Given the description of an element on the screen output the (x, y) to click on. 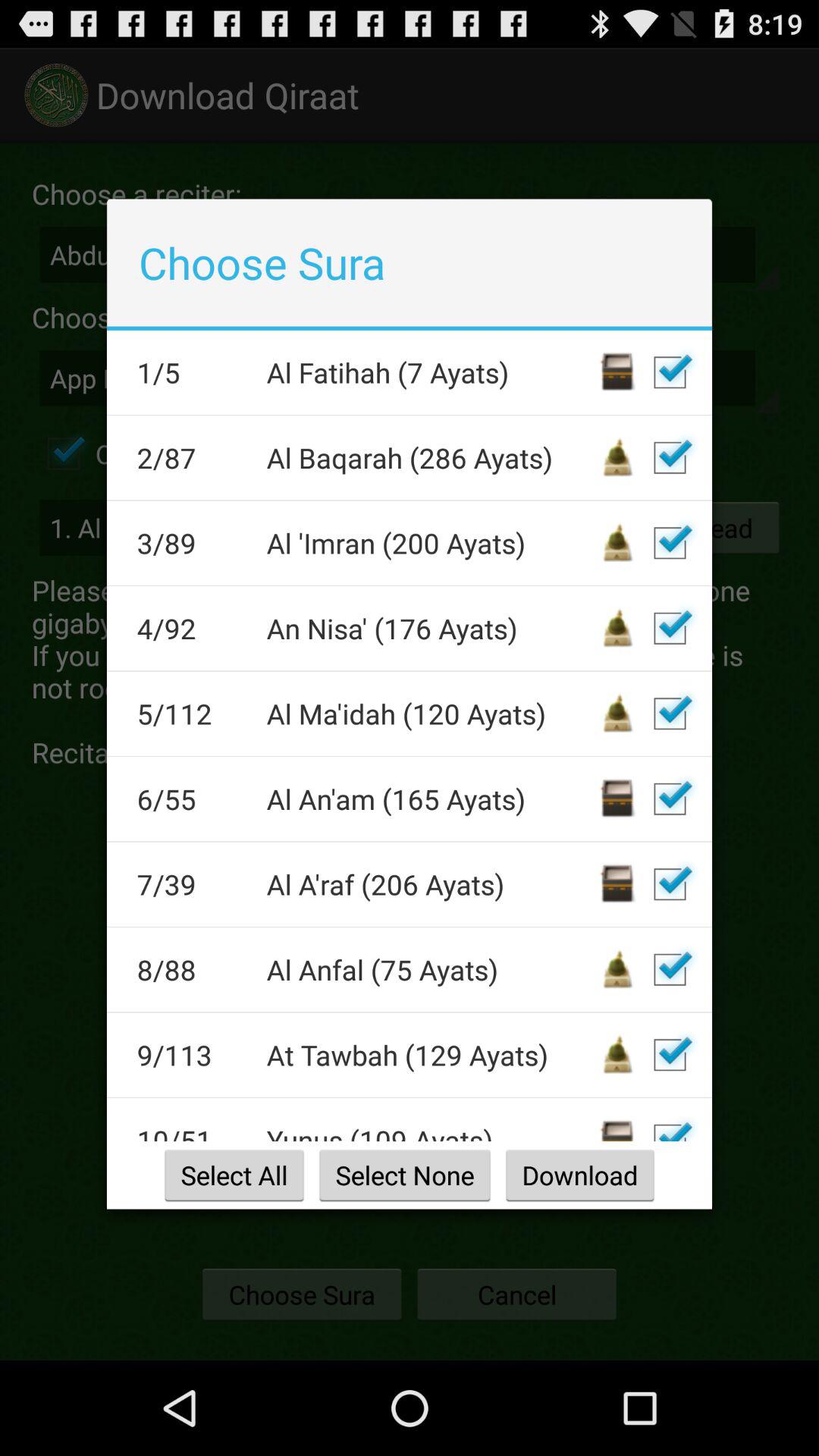
uncheck box (669, 457)
